Given the description of an element on the screen output the (x, y) to click on. 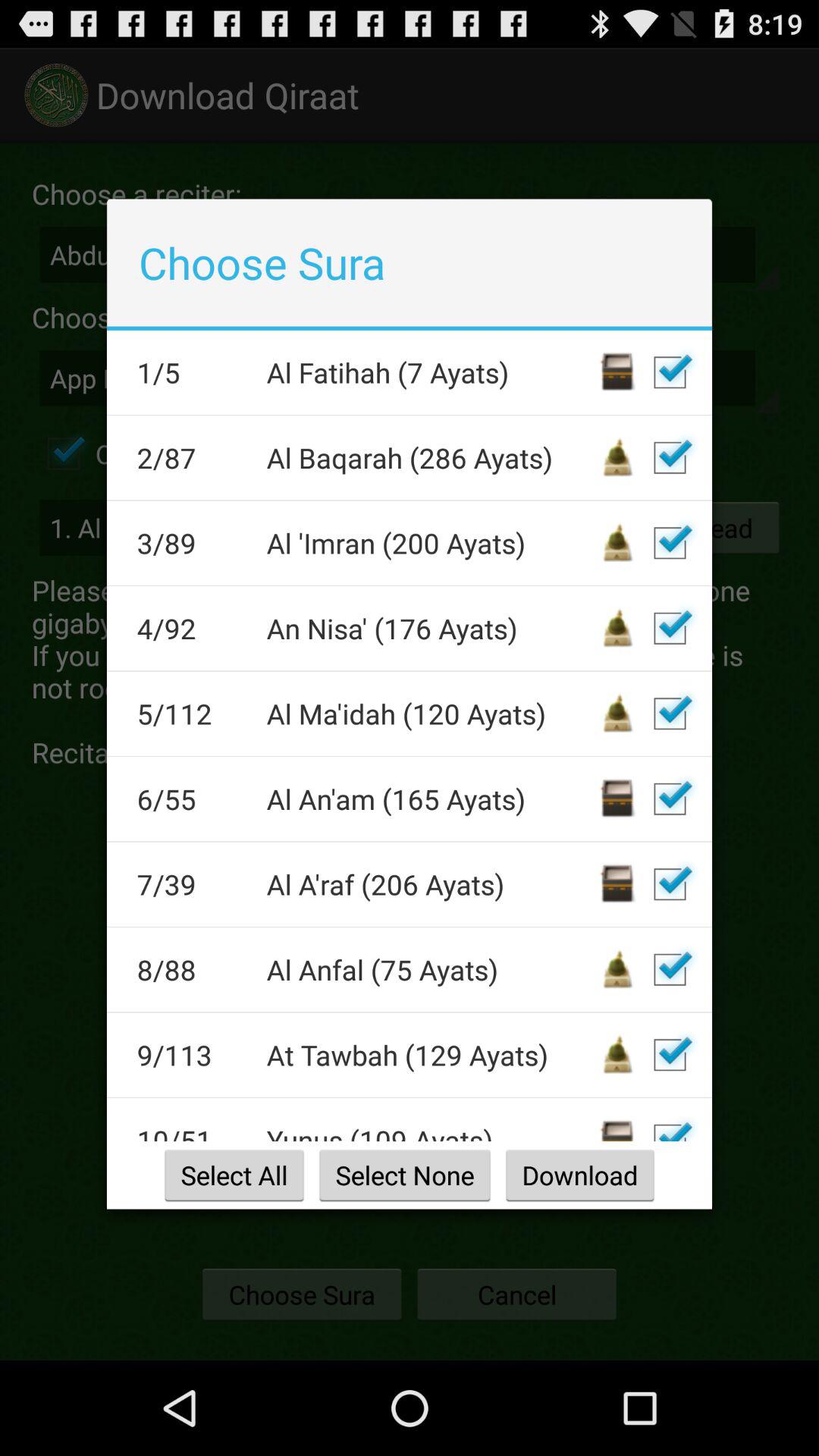
uncheck box (669, 457)
